Given the description of an element on the screen output the (x, y) to click on. 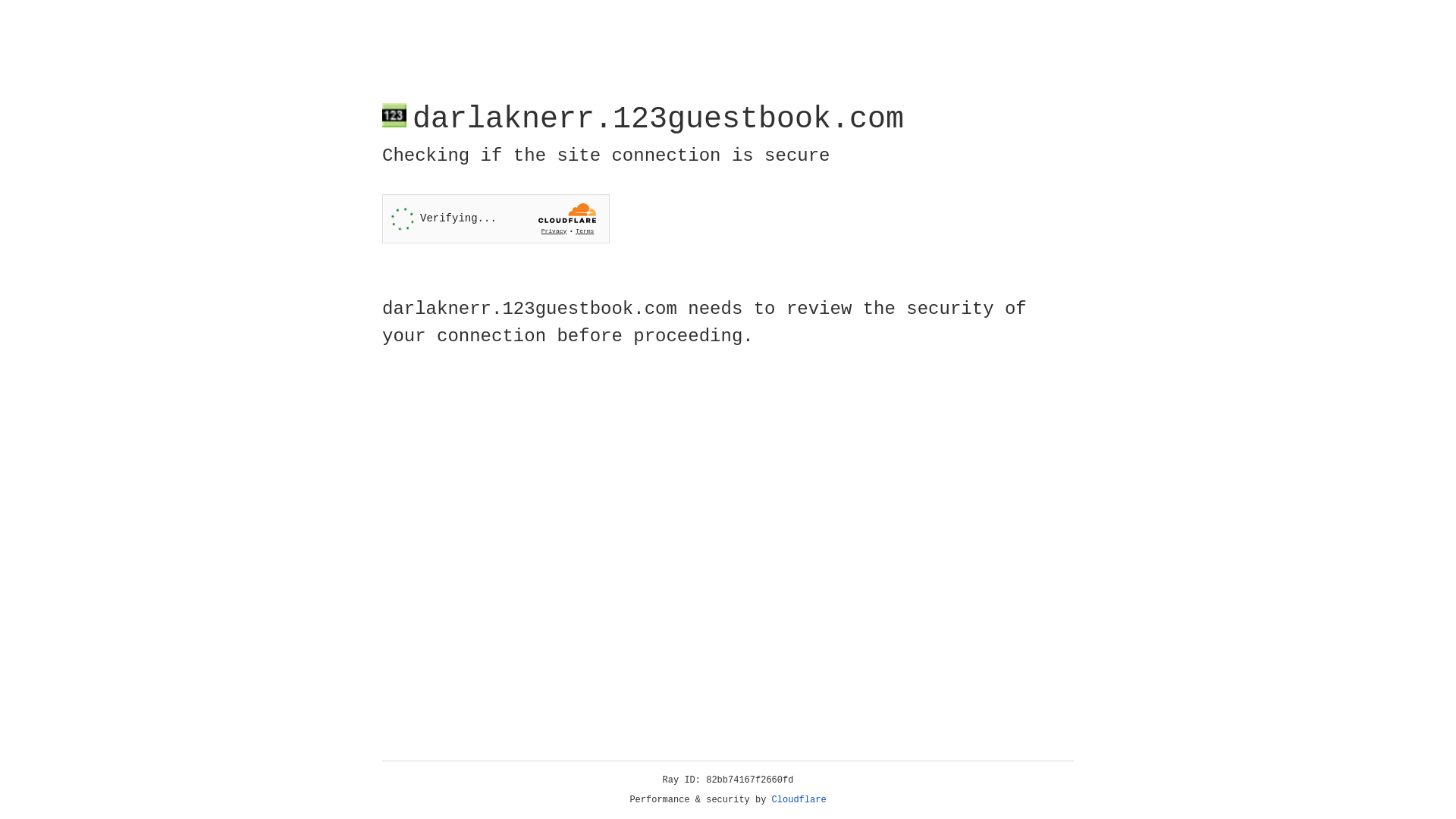
Cloudflare Element type: text (798, 799)
Widget containing a Cloudflare security challenge Element type: hover (495, 218)
